Given the description of an element on the screen output the (x, y) to click on. 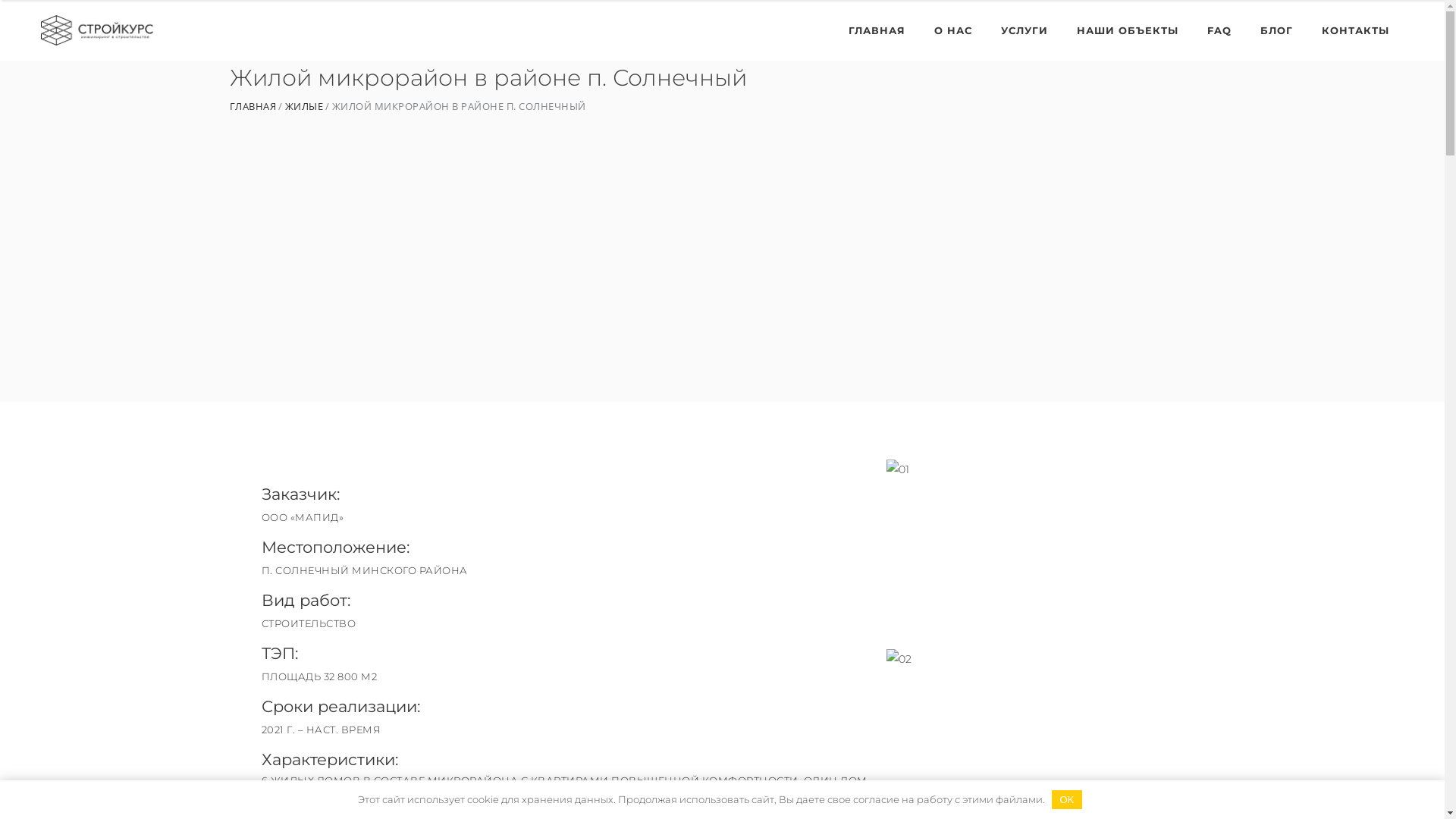
OK Element type: text (1066, 799)
FAQ Element type: text (1218, 30)
01 Element type: hover (1034, 542)
